Given the description of an element on the screen output the (x, y) to click on. 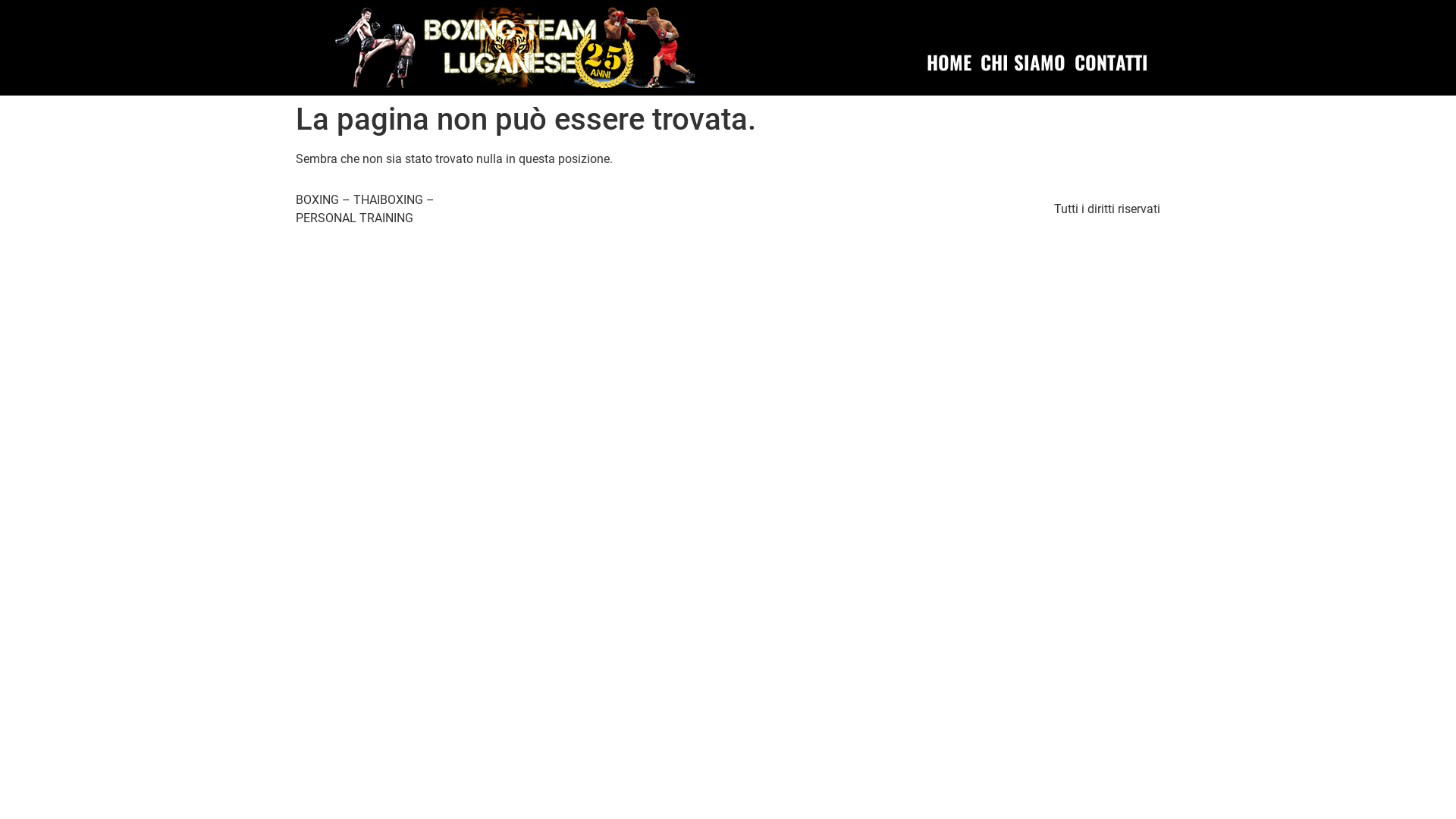
CHI SIAMO Element type: text (1022, 61)
CONTATTI Element type: text (1111, 61)
HOME Element type: text (948, 61)
